Given the description of an element on the screen output the (x, y) to click on. 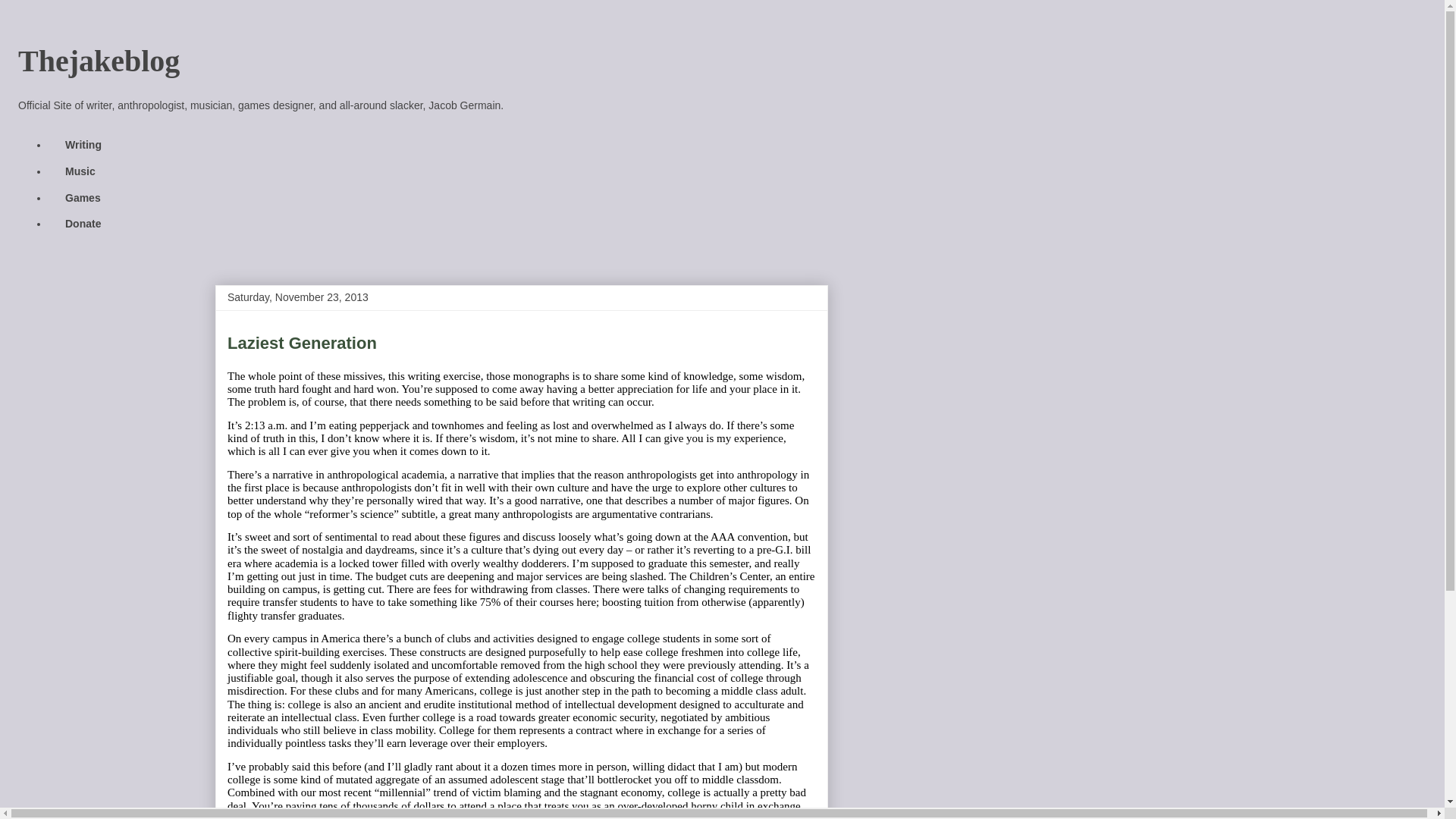
Writing (82, 144)
Music (80, 171)
Donate (82, 223)
Games (82, 197)
Thejakeblog (98, 60)
